Given the description of an element on the screen output the (x, y) to click on. 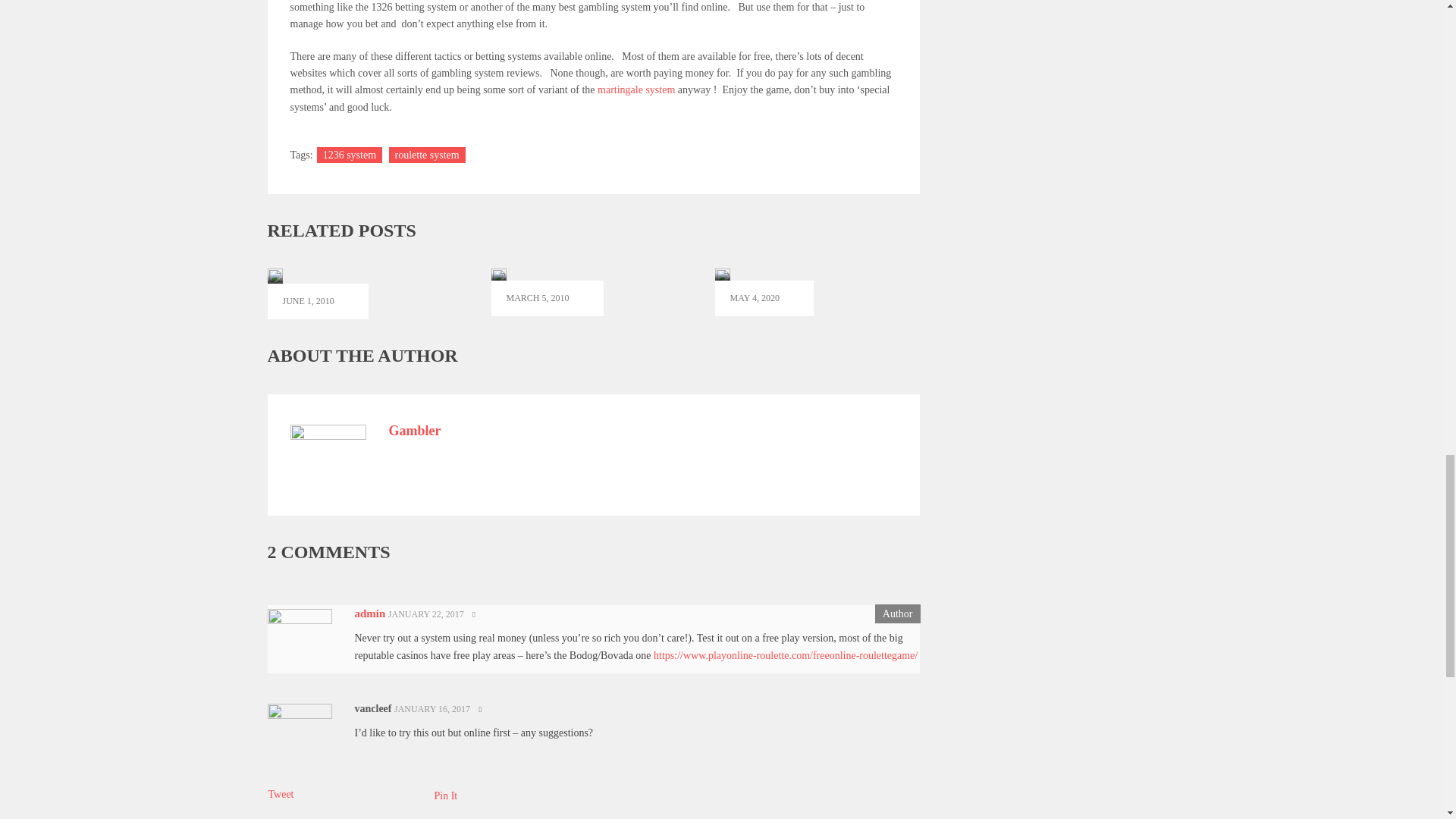
Gambler (414, 430)
Which is the Best Roulette Gambling System (763, 292)
MARCH 5, 2010 (548, 292)
admin (370, 613)
1236 system (349, 154)
JUNE 1, 2010 (317, 293)
martingale system (635, 89)
roulette system (426, 154)
MAY 4, 2020 (763, 292)
Roulette Strategies That Work (317, 293)
